Given the description of an element on the screen output the (x, y) to click on. 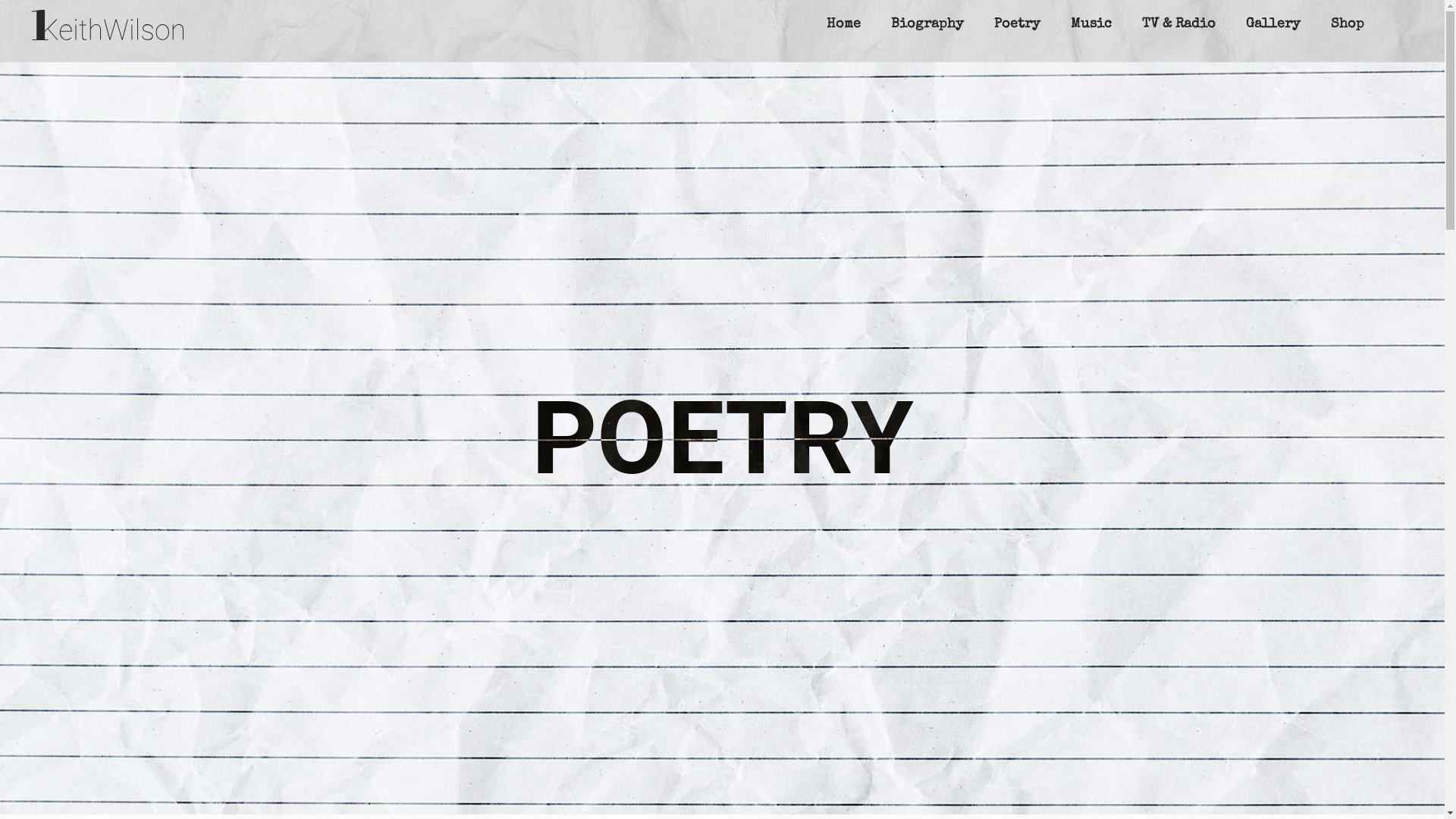
Biography Element type: text (927, 24)
Shop Element type: text (1347, 24)
TV & Radio Element type: text (1178, 24)
Gallery Element type: text (1272, 24)
Poetry Element type: text (1017, 24)
Home Element type: text (843, 24)
Music Element type: text (1090, 24)
